Given the description of an element on the screen output the (x, y) to click on. 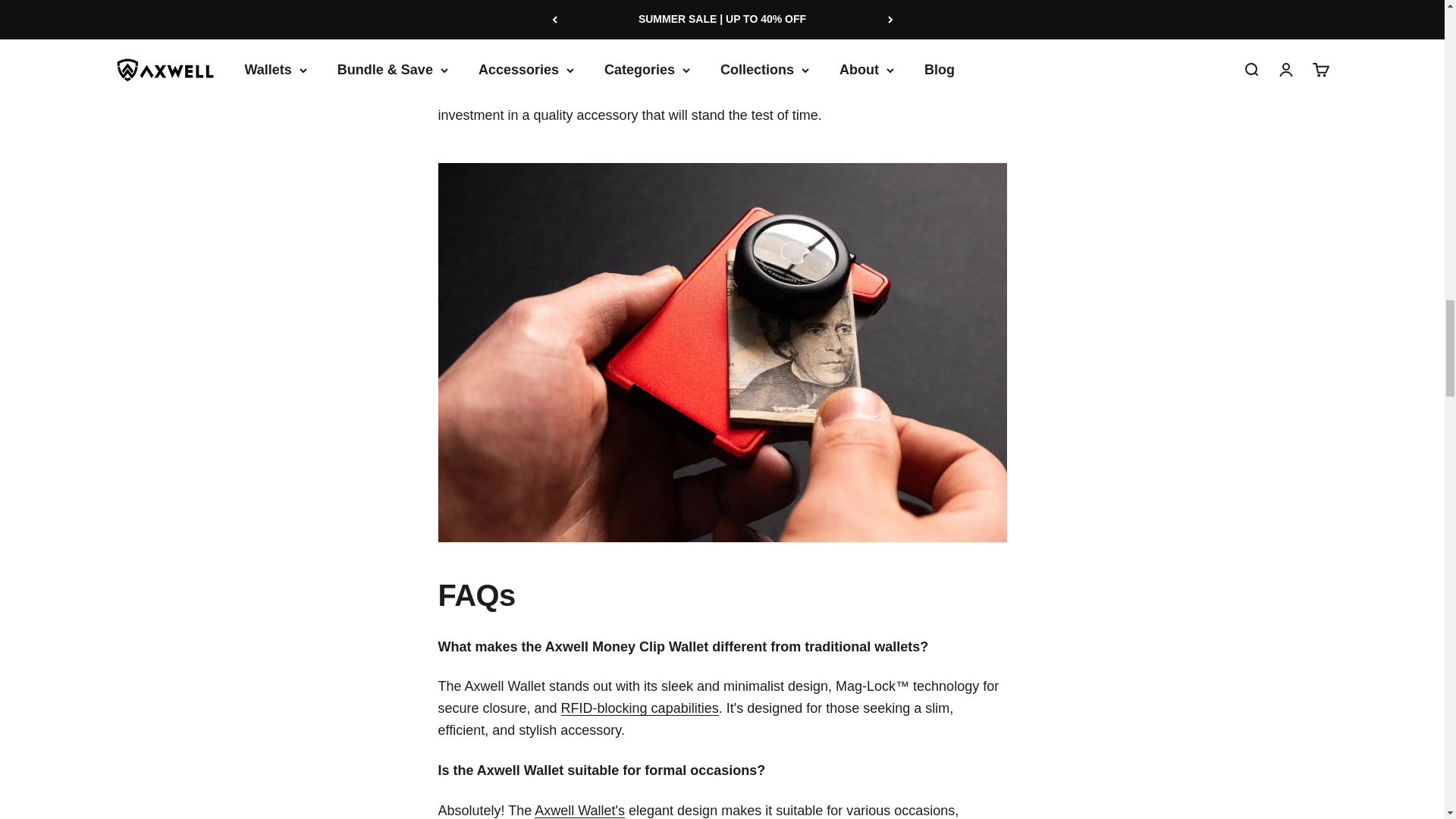
Axwell Money Clip Wallets (579, 810)
Best RFID Wallets (639, 708)
Axwell Money Clip Wallets (693, 70)
